Given the description of an element on the screen output the (x, y) to click on. 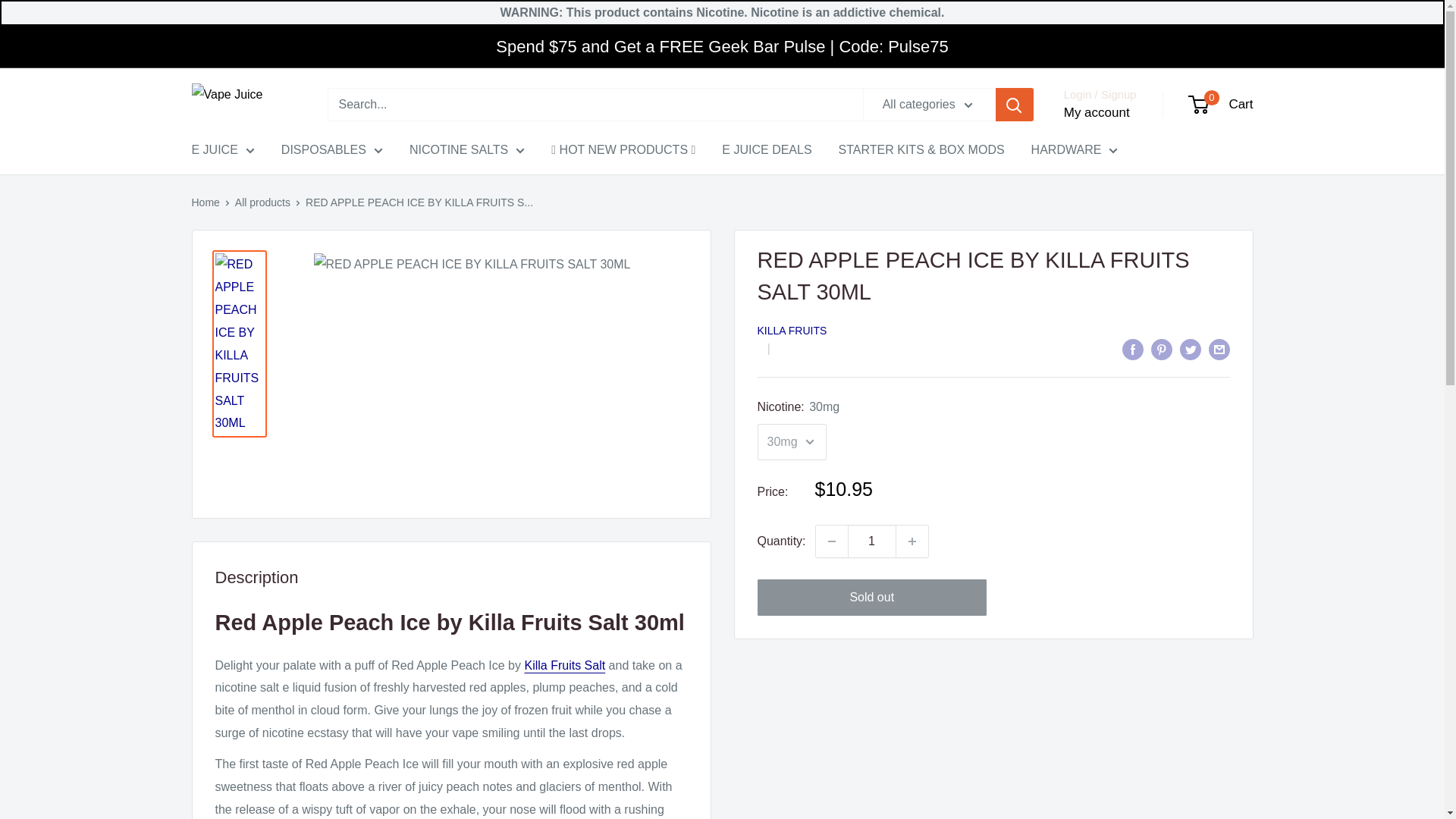
Decrease quantity by 1 (831, 541)
Increase quantity by 1 (912, 541)
1 (871, 541)
